Given the description of an element on the screen output the (x, y) to click on. 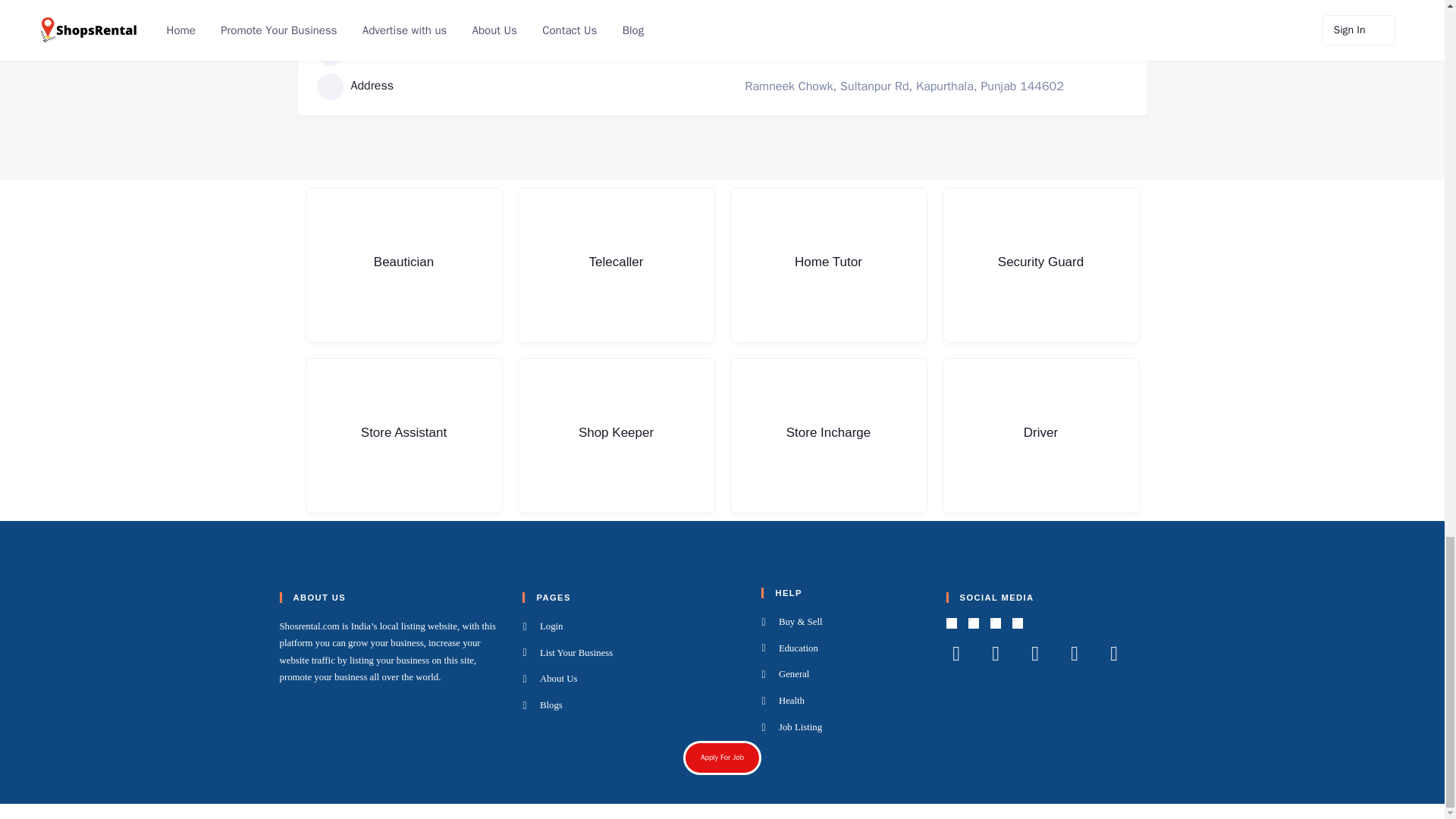
Blogs (631, 705)
Health (843, 701)
Store Assistant (403, 435)
List Your Business (631, 653)
Job Listing (843, 728)
Security Guard (1040, 265)
Beautician (403, 265)
Shop Keeper (615, 435)
Telecaller (615, 265)
Store Incharge (827, 435)
Home Tutor (827, 265)
Education (843, 648)
Driver (1040, 435)
Login (631, 627)
About Us (631, 679)
